Given the description of an element on the screen output the (x, y) to click on. 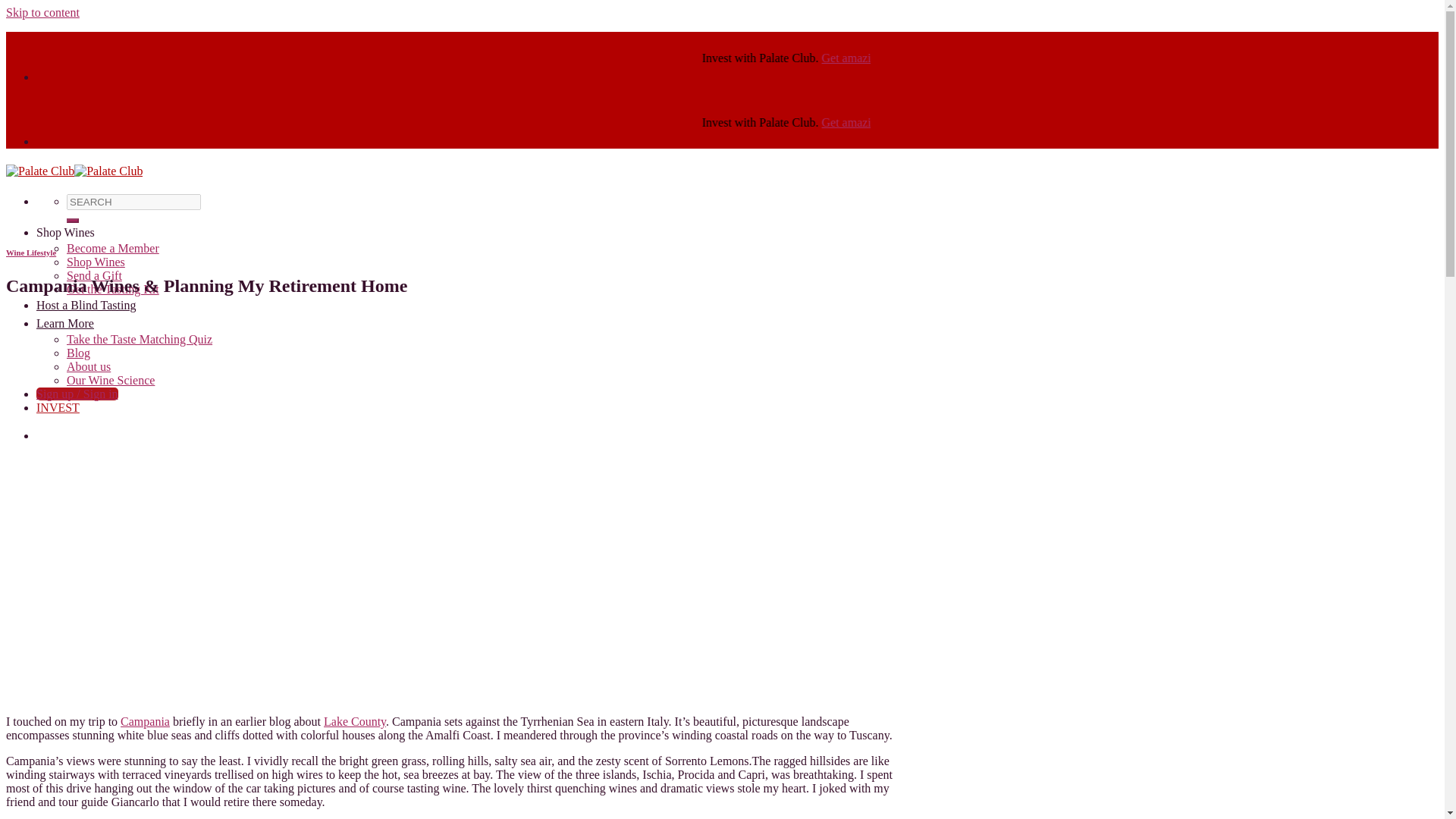
Get amazing Wine Perks now! (1059, 122)
Blog (78, 352)
Get amazing Wine Perks now! (1061, 57)
Get the Tasting Kit (112, 288)
Palate Club - Discover your Wine Palate (73, 170)
Take the Taste Matching Quiz (139, 338)
Skip to content (42, 11)
Become a Member (112, 247)
Shop Wines (65, 232)
About us (88, 366)
Lake County (354, 721)
Send a Gift (94, 275)
Shop Wines (95, 261)
Wine Lifestyle (30, 252)
INVEST (58, 407)
